Given the description of an element on the screen output the (x, y) to click on. 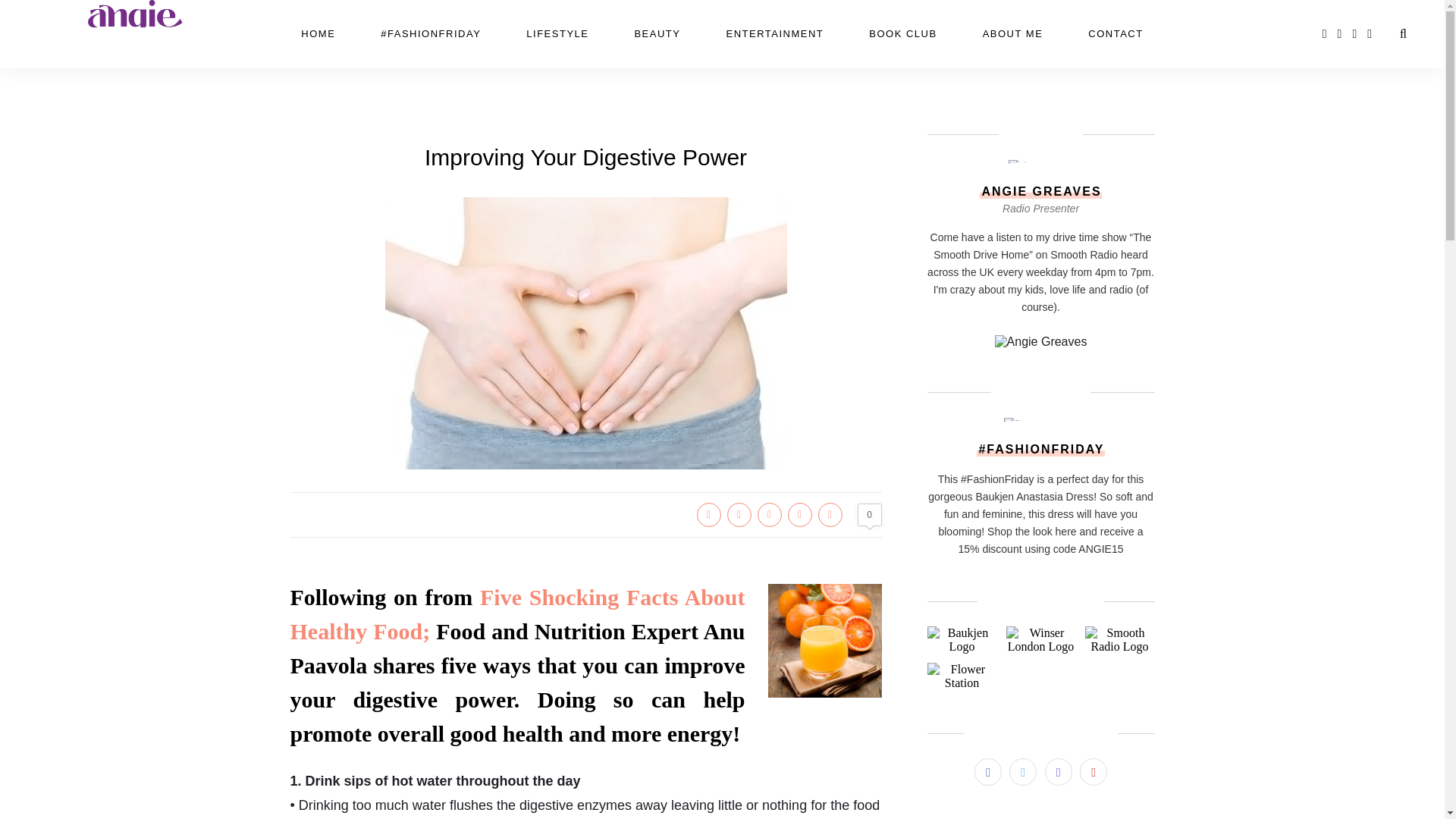
ABOUT ME (1012, 33)
BOOK CLUB (902, 33)
LIFESTYLE (556, 33)
ENTERTAINMENT (774, 33)
